Given the description of an element on the screen output the (x, y) to click on. 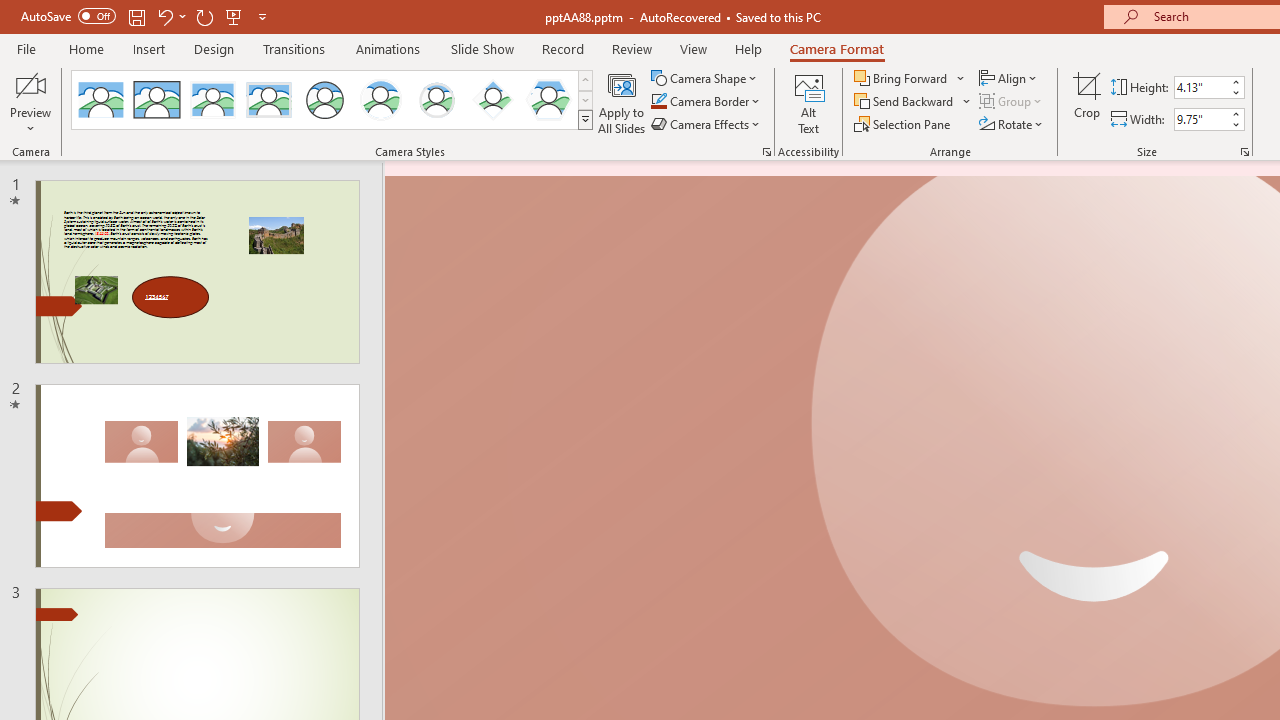
Center Shadow Diamond (492, 100)
Center Shadow Circle (381, 100)
Camera Shape (705, 78)
Camera Effects (706, 124)
Send Backward (913, 101)
Cameo Height (1201, 87)
Simple Frame Circle (324, 100)
Soft Edge Rectangle (268, 100)
Align (1009, 78)
